Given the description of an element on the screen output the (x, y) to click on. 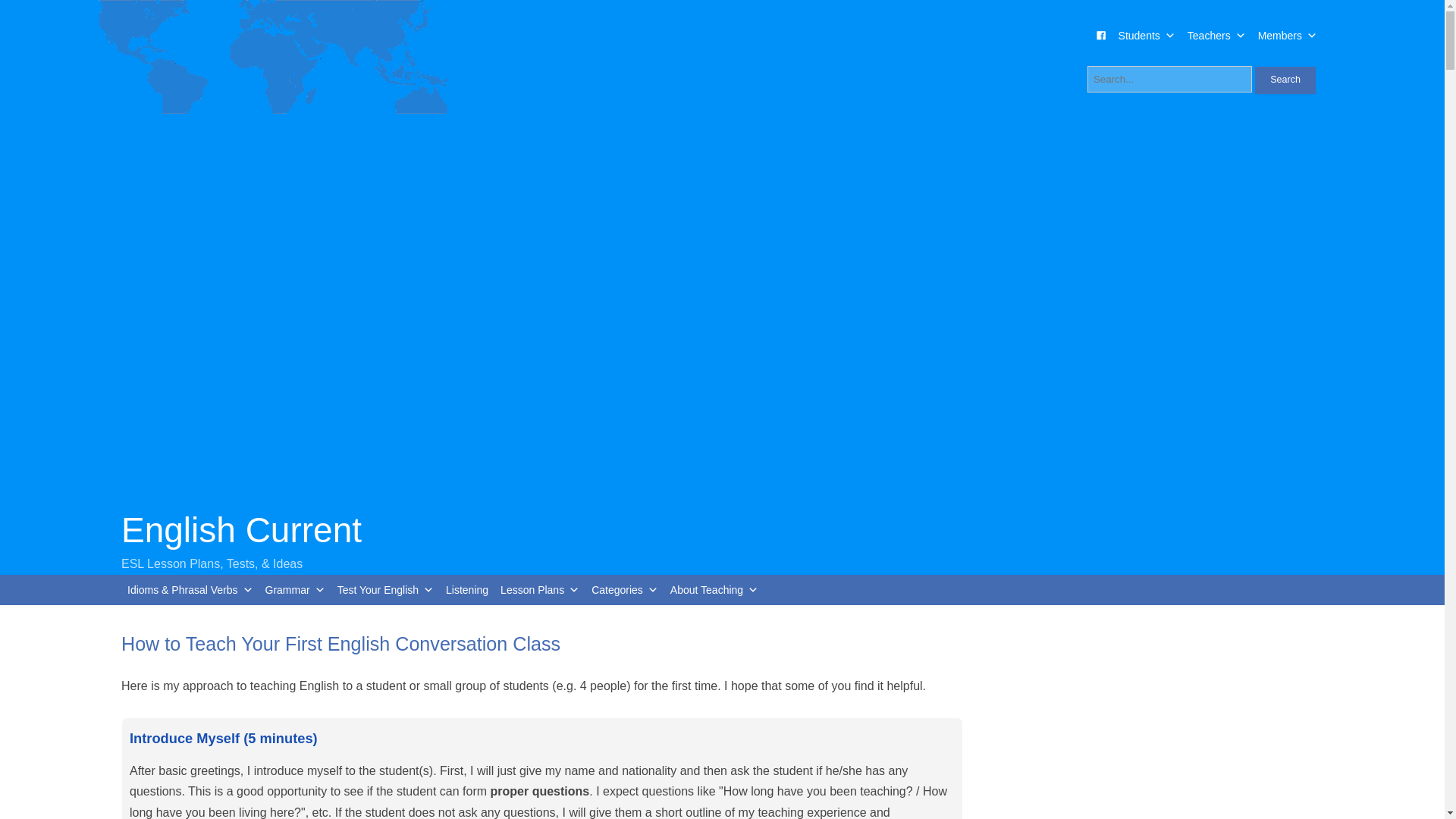
English Current (240, 529)
Search (1285, 80)
Teachers (1216, 35)
Students (1146, 35)
English Current (240, 529)
